Given the description of an element on the screen output the (x, y) to click on. 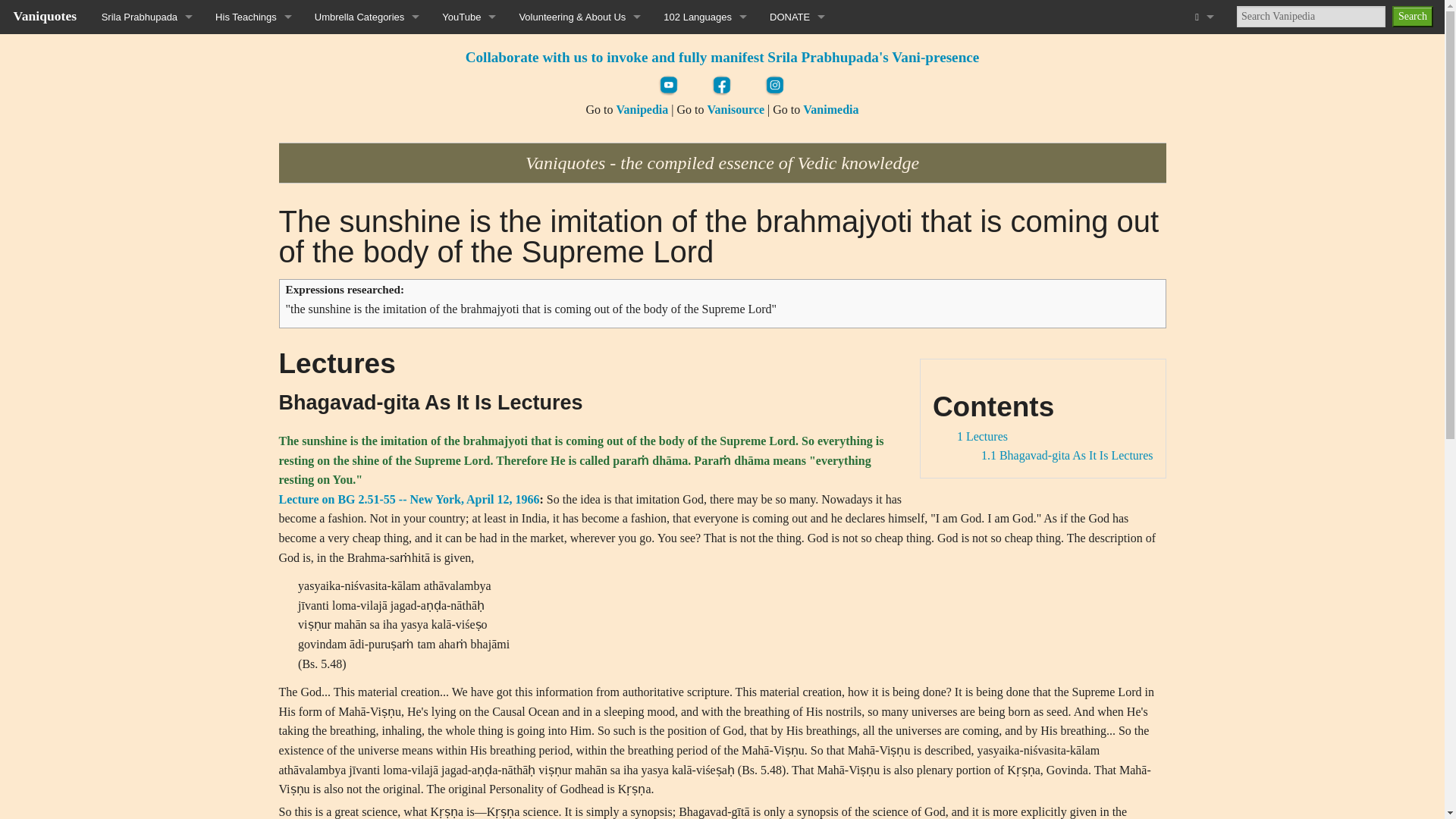
vanisource:Main Page (735, 109)
Vaniquotes (44, 15)
Search (1411, 16)
Srila Prabhupada (146, 17)
vanimedia:Main Page (831, 109)
vanisource:Lecture on BG 2.51-55 -- New York, April 12, 1966 (409, 499)
vanipedia:Main Page (641, 109)
